Given the description of an element on the screen output the (x, y) to click on. 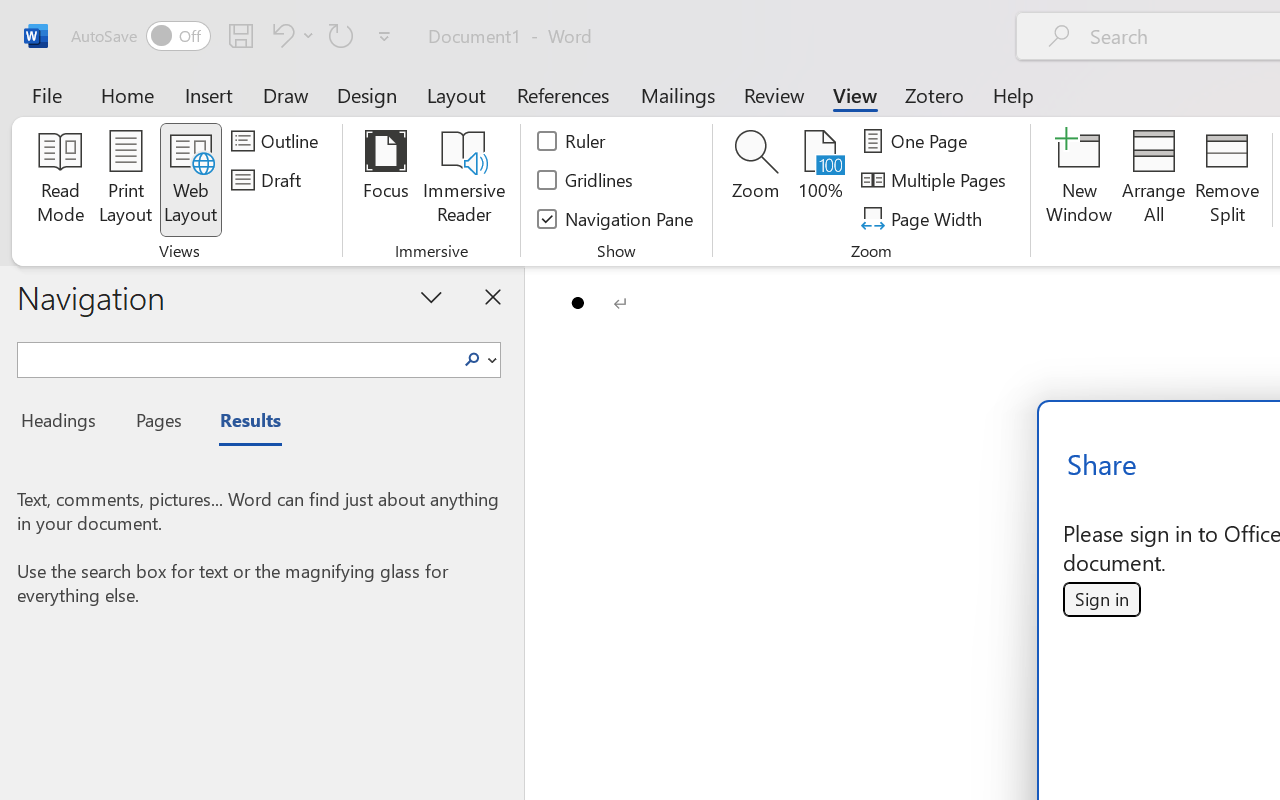
Focus (385, 179)
Undo Bullet Default (280, 35)
Can't Repeat (341, 35)
Remove Split (1227, 179)
Draft (269, 179)
Immersive Reader (464, 179)
One Page (917, 141)
